Given the description of an element on the screen output the (x, y) to click on. 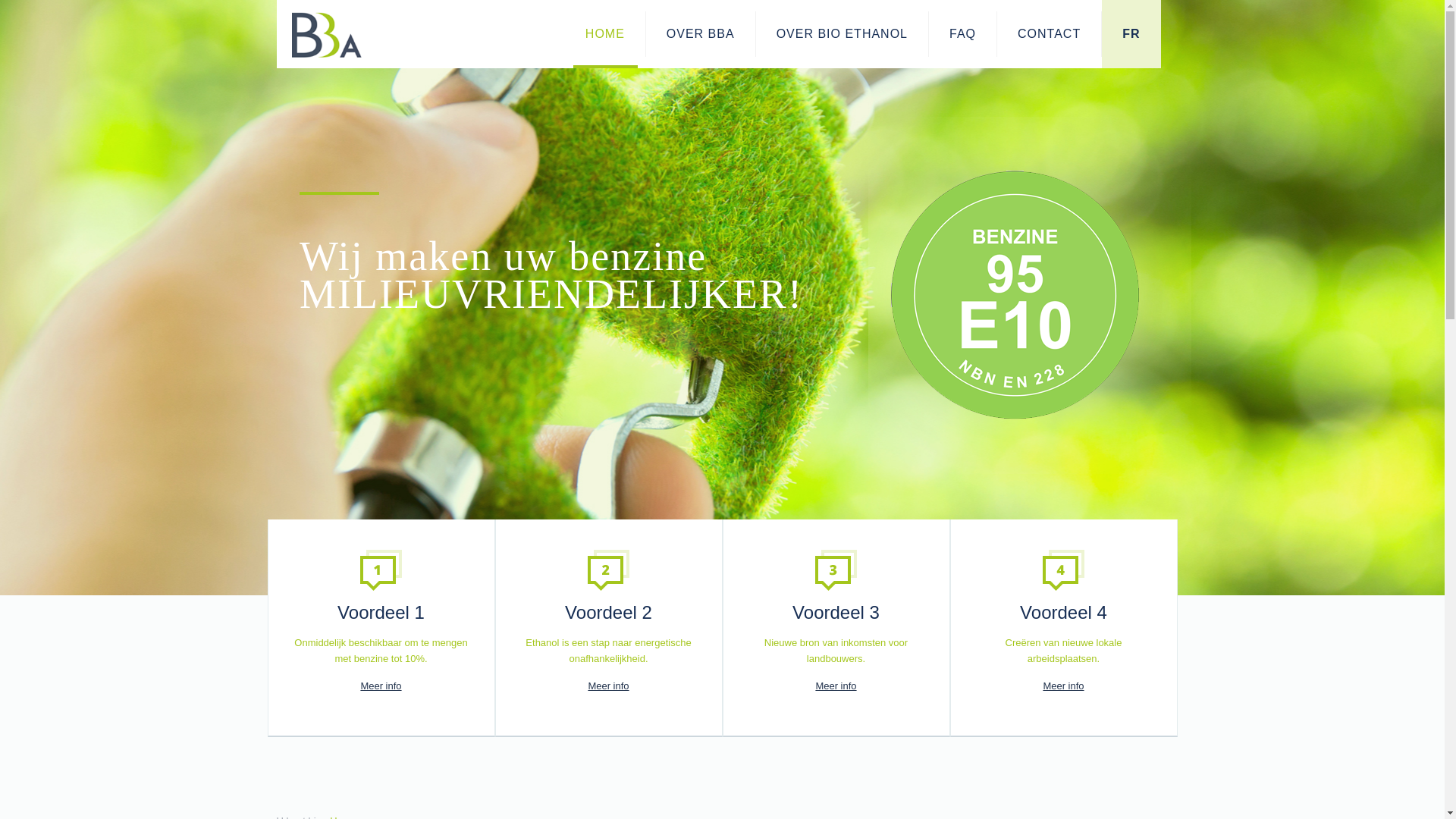
FR Element type: text (1130, 34)
OVER BIO ETHANOL Element type: text (842, 34)
BBA - Belgian Bio Ethanol Association Element type: hover (399, 34)
Meer info Element type: text (608, 685)
Voordeel 3
Nieuwe bron van inkomsten voor landbouwers. Element type: text (836, 607)
Meer info Element type: text (381, 685)
HOME Element type: text (605, 34)
CONTACT Element type: text (1049, 34)
Meer info Element type: text (836, 685)
FAQ Element type: text (962, 34)
Meer info Element type: text (1063, 685)
OVER BBA Element type: text (701, 34)
